Given the description of an element on the screen output the (x, y) to click on. 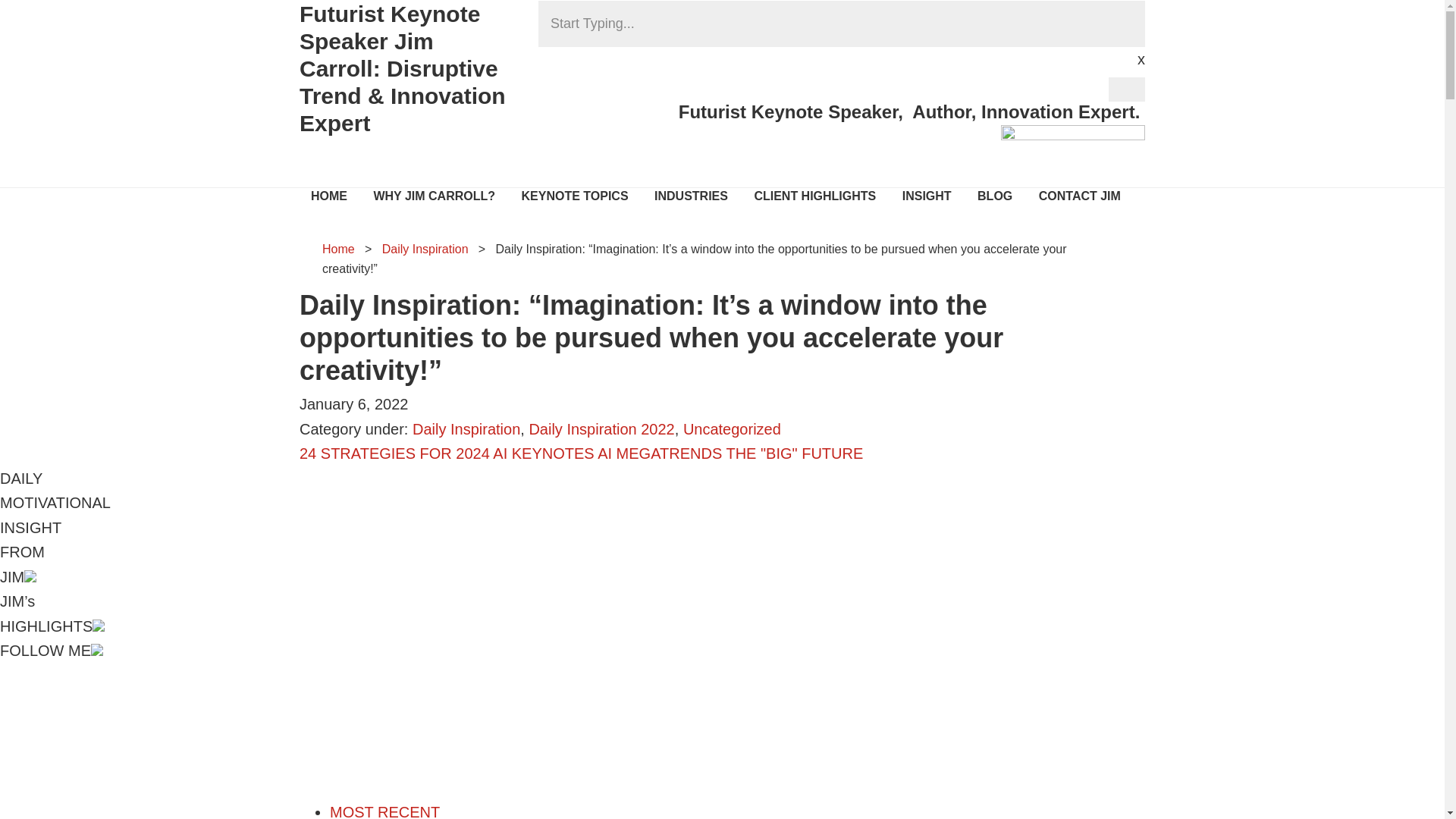
WHY JIM CARROLL? (433, 198)
Search (38, 22)
KEYNOTE TOPICS (574, 198)
HOME (328, 198)
INDUSTRIES (691, 198)
